Given the description of an element on the screen output the (x, y) to click on. 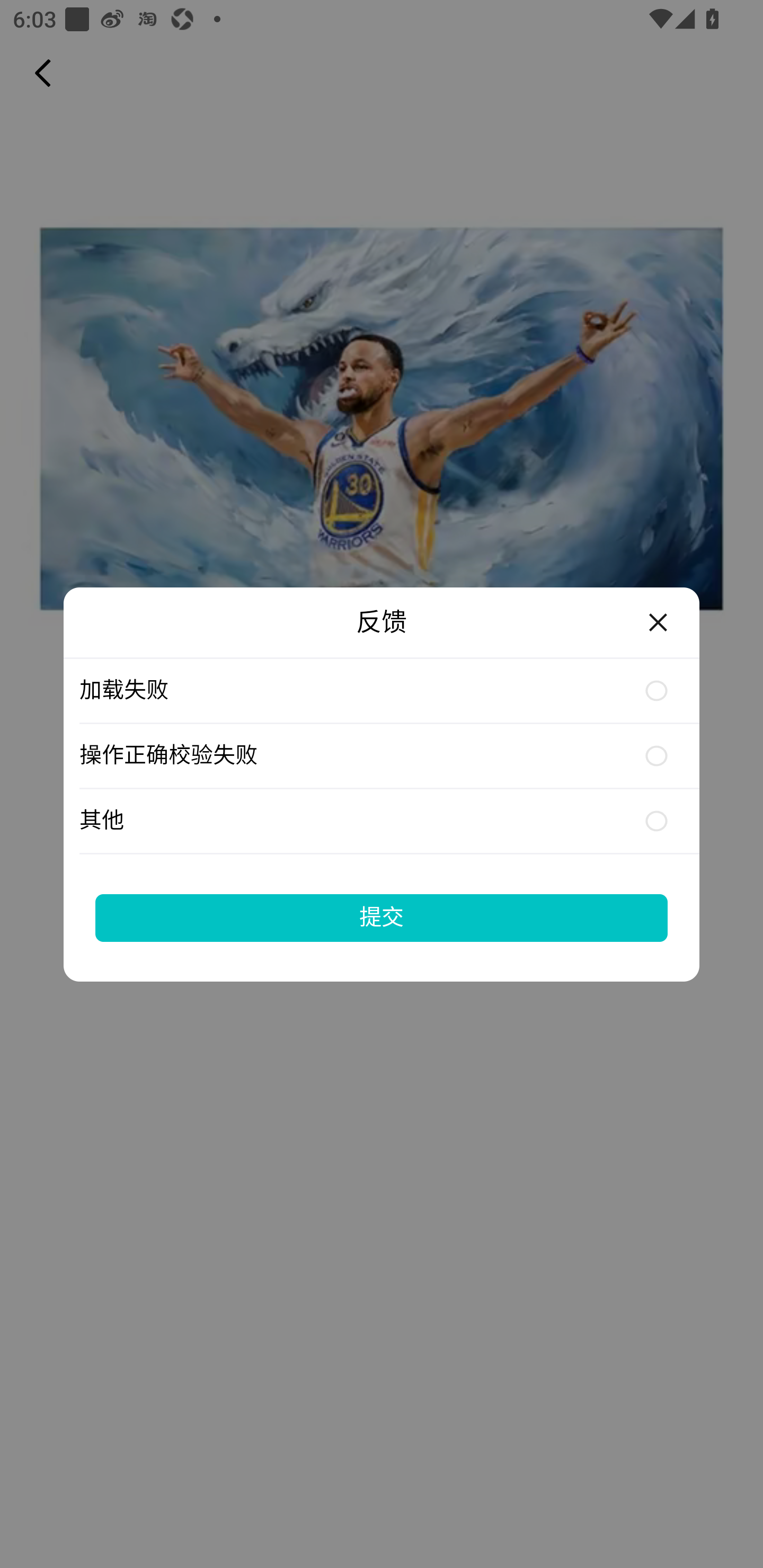
提交 (381, 917)
